Given the description of an element on the screen output the (x, y) to click on. 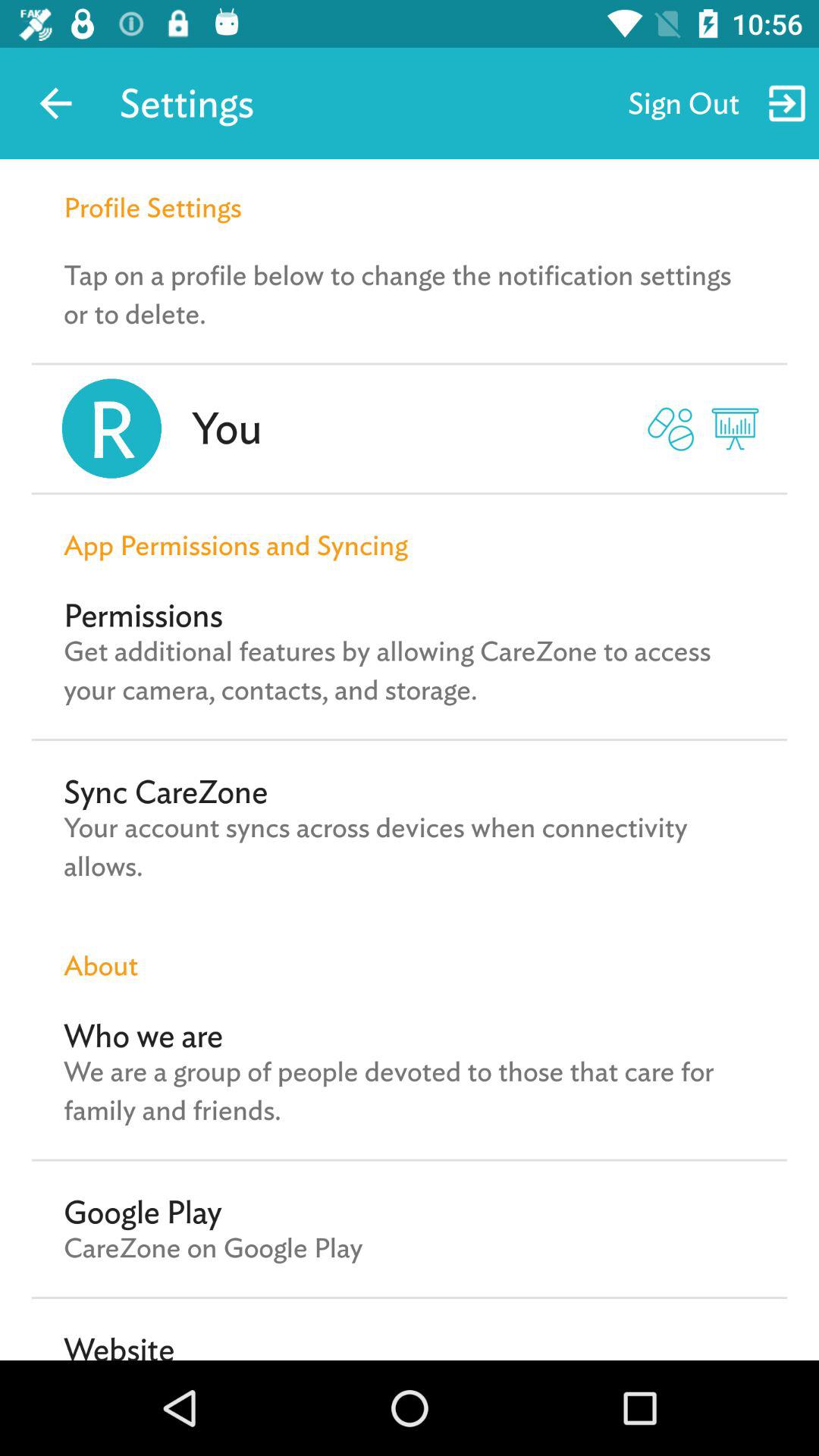
launch carezone on google (212, 1247)
